Given the description of an element on the screen output the (x, y) to click on. 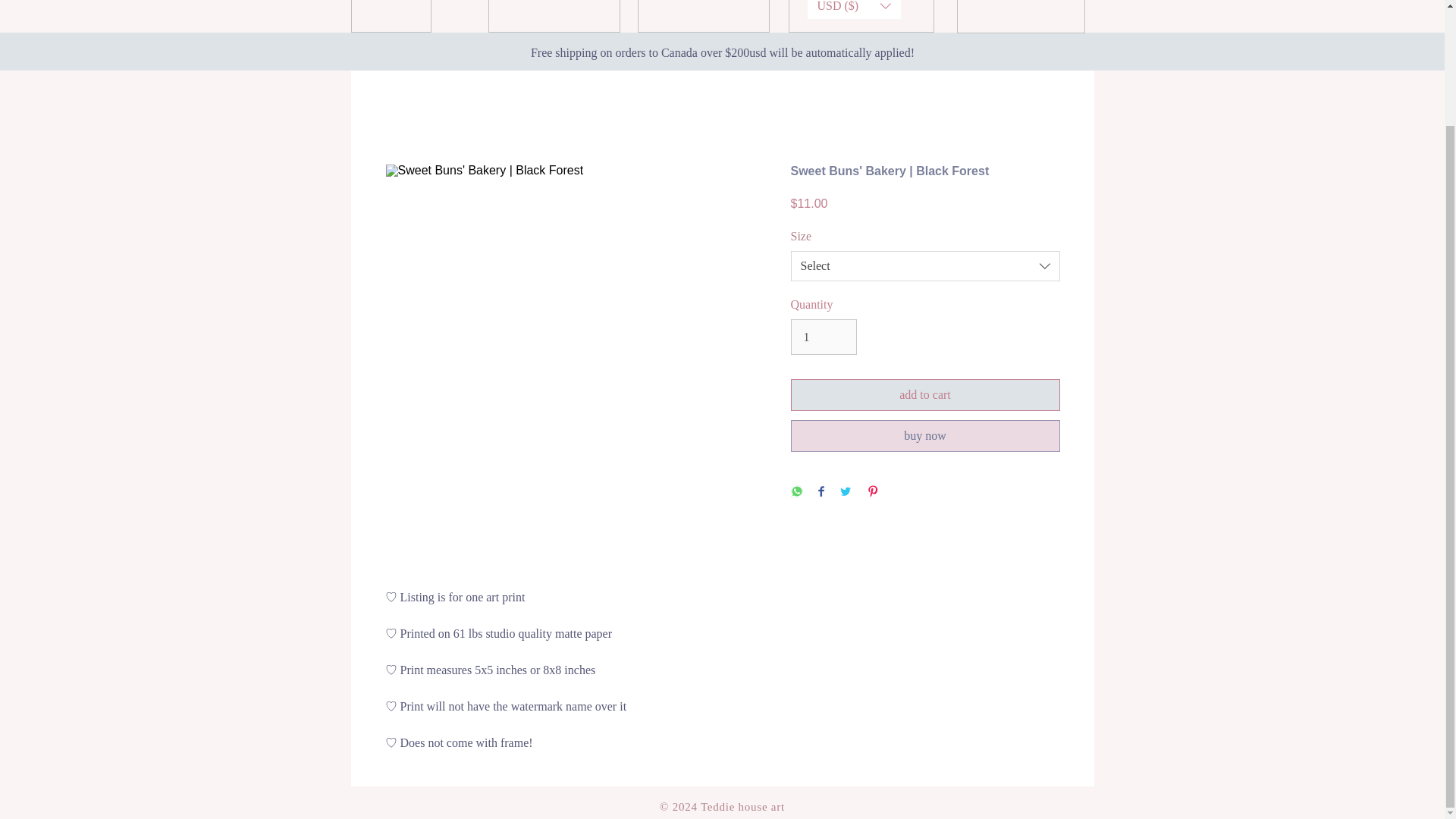
1 (823, 336)
add to cart (924, 395)
buy now (924, 436)
Select (924, 265)
